Given the description of an element on the screen output the (x, y) to click on. 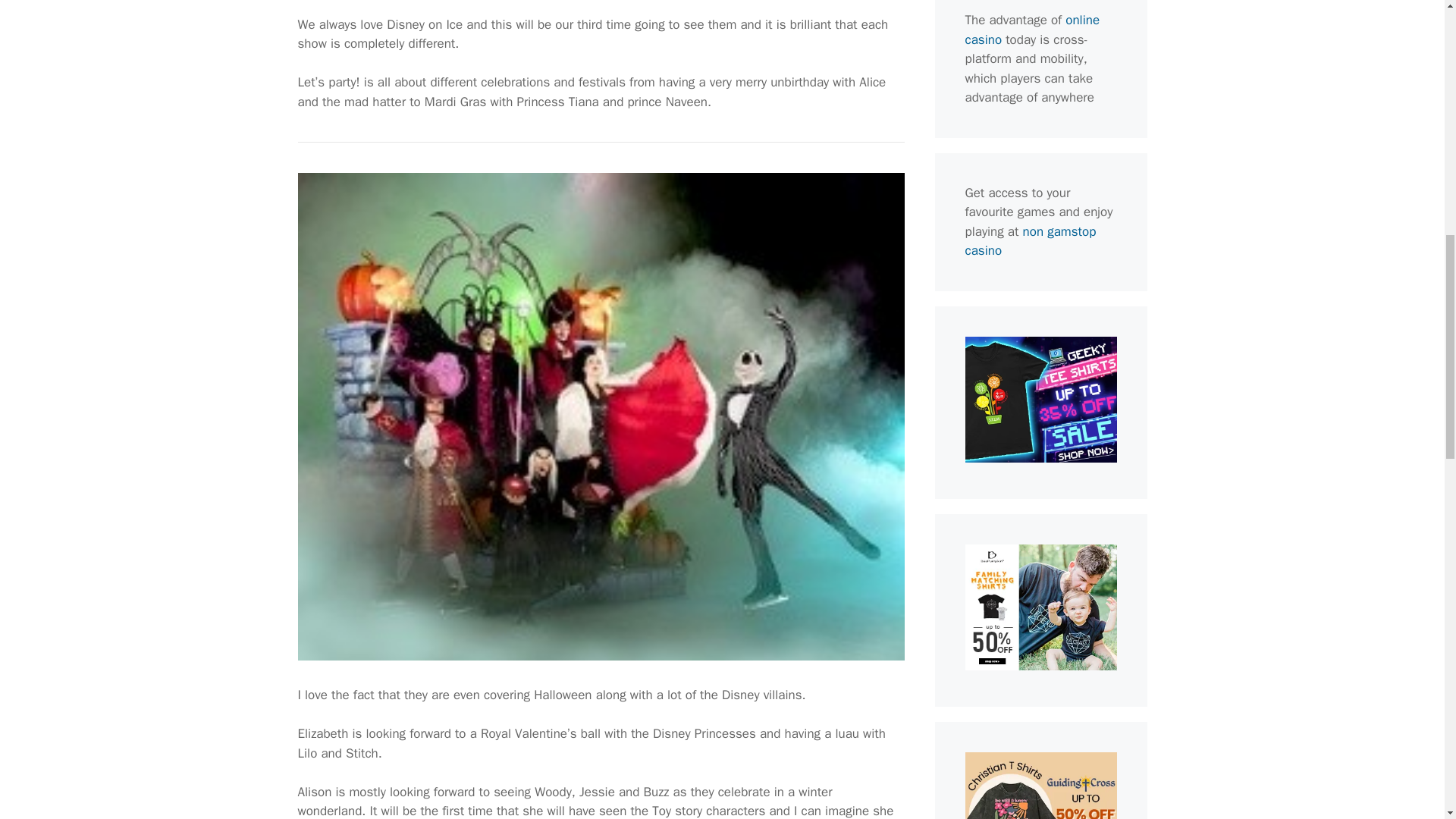
non gamstop casino (1029, 240)
geek t shirt (1039, 458)
family matching shirts (1039, 666)
Scroll back to top (1406, 720)
online casino (1031, 29)
